Given the description of an element on the screen output the (x, y) to click on. 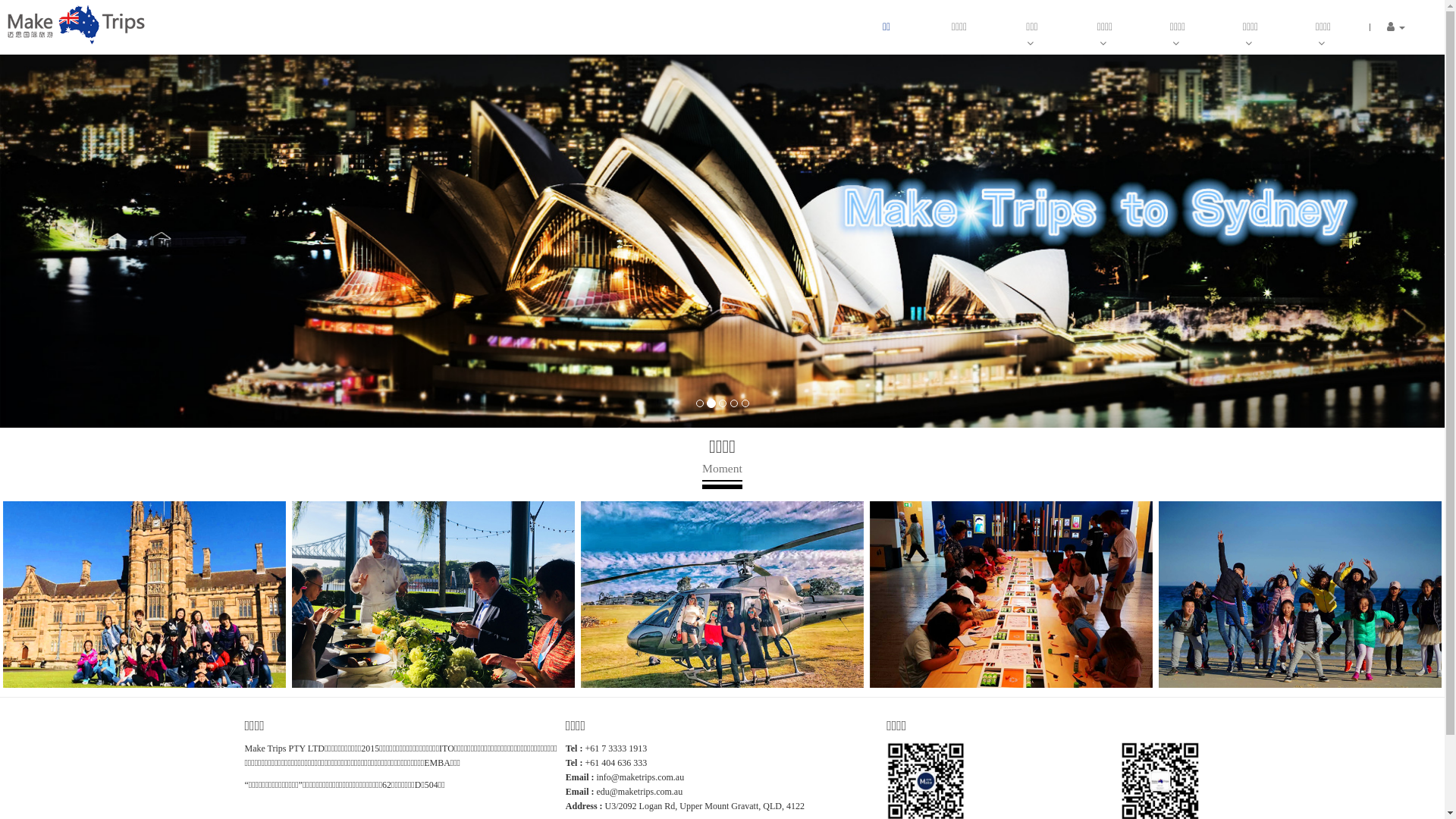
Next Element type: text (1335, 592)
Previous Element type: text (108, 592)
